Given the description of an element on the screen output the (x, y) to click on. 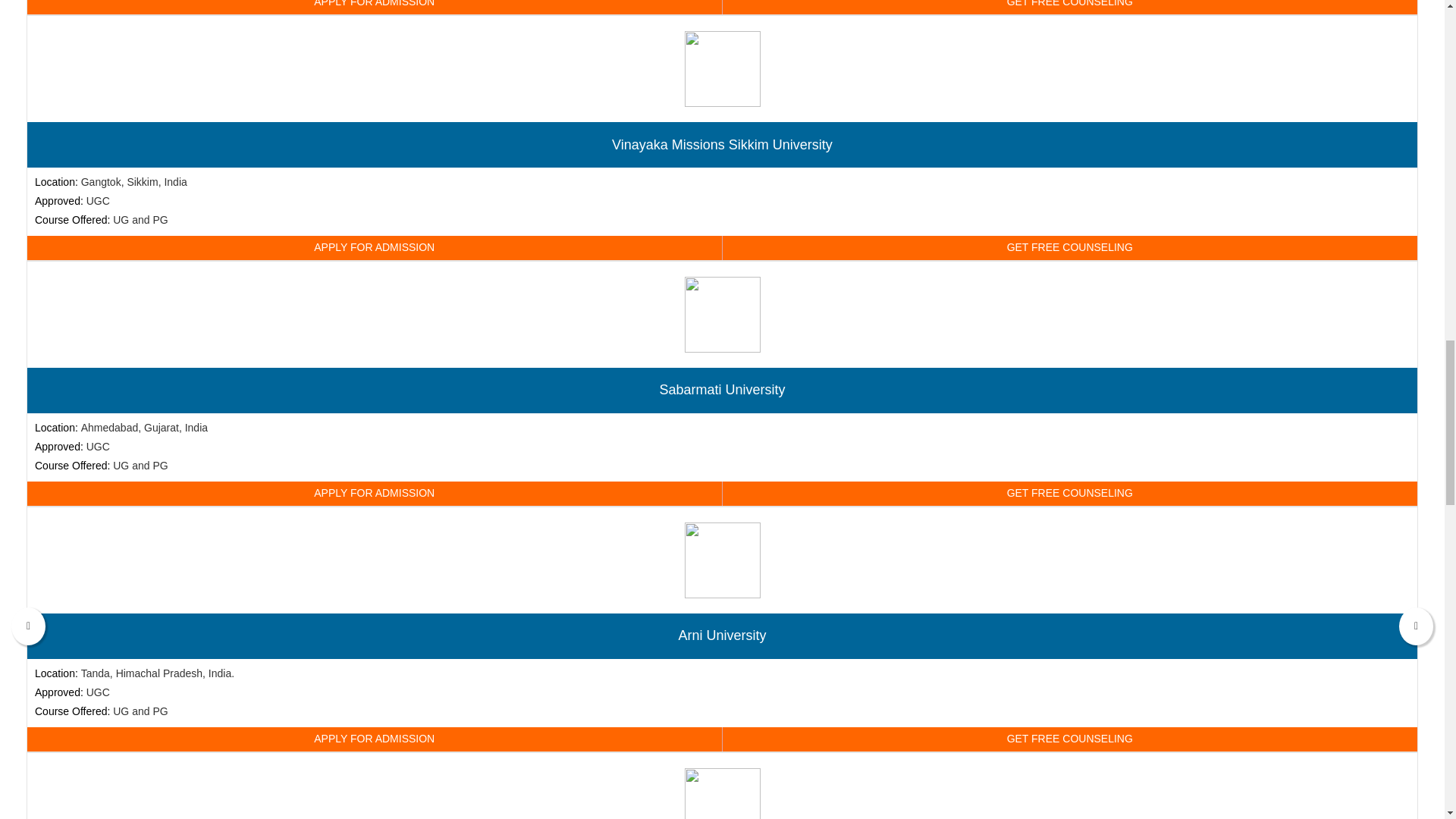
GET FREE COUNSELING (1069, 7)
GET FREE COUNSELING (1069, 493)
APPLY FOR ADMISSION (374, 7)
APPLY FOR ADMISSION (374, 739)
APPLY FOR ADMISSION (374, 493)
GET FREE COUNSELING (1069, 739)
APPLY FOR ADMISSION (374, 247)
GET FREE COUNSELING (1069, 247)
